Given the description of an element on the screen output the (x, y) to click on. 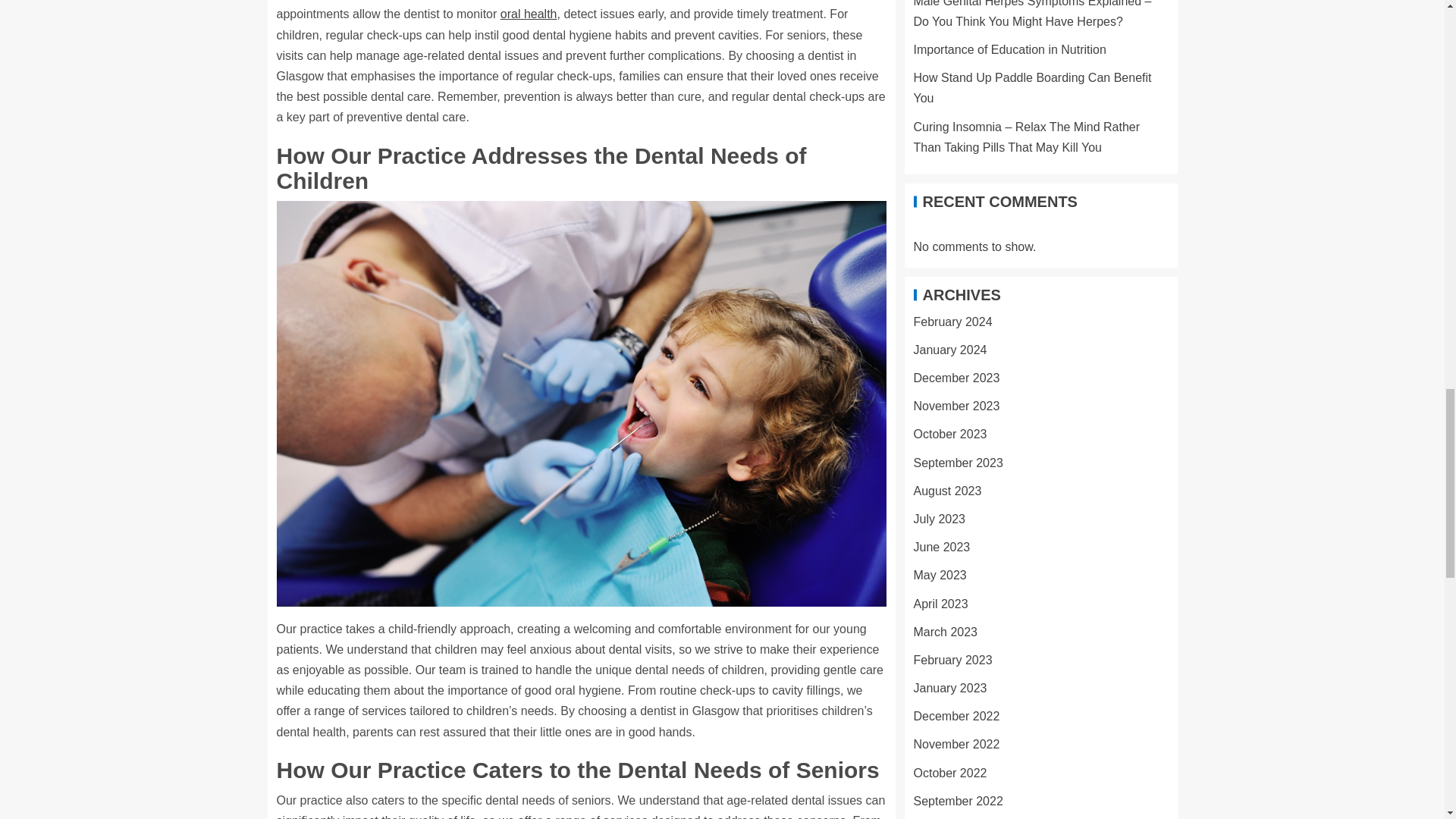
oral health (528, 13)
